Given the description of an element on the screen output the (x, y) to click on. 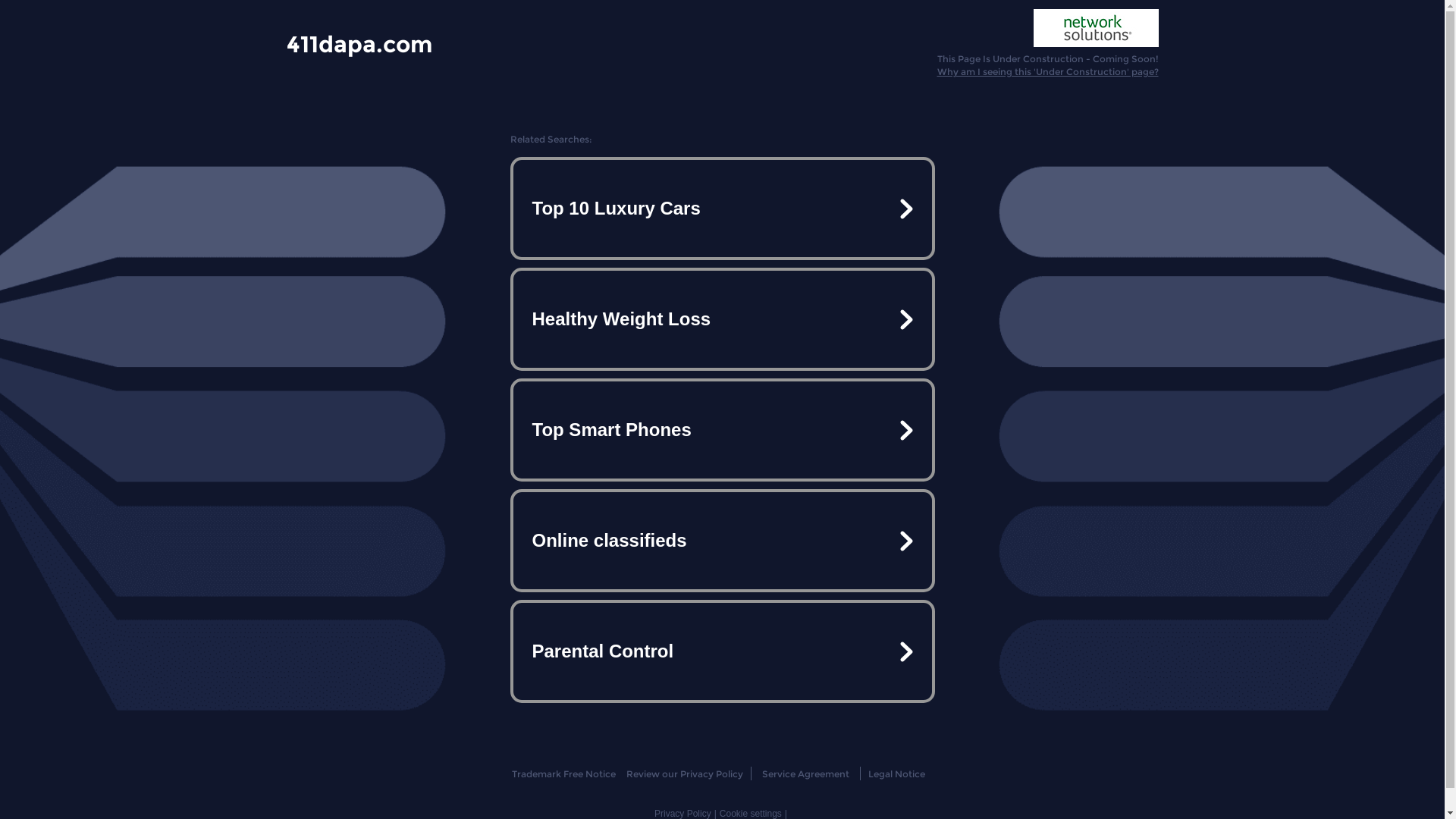
Review our Privacy Policy Element type: text (684, 773)
Online classifieds Element type: text (721, 540)
Top 10 Luxury Cars Element type: text (721, 208)
Top Smart Phones Element type: text (721, 429)
Legal Notice Element type: text (896, 773)
Trademark Free Notice Element type: text (563, 773)
Service Agreement Element type: text (805, 773)
Healthy Weight Loss Element type: text (721, 318)
411dapa.com Element type: text (359, 43)
Why am I seeing this 'Under Construction' page? Element type: text (1047, 71)
Parental Control Element type: text (721, 650)
